Given the description of an element on the screen output the (x, y) to click on. 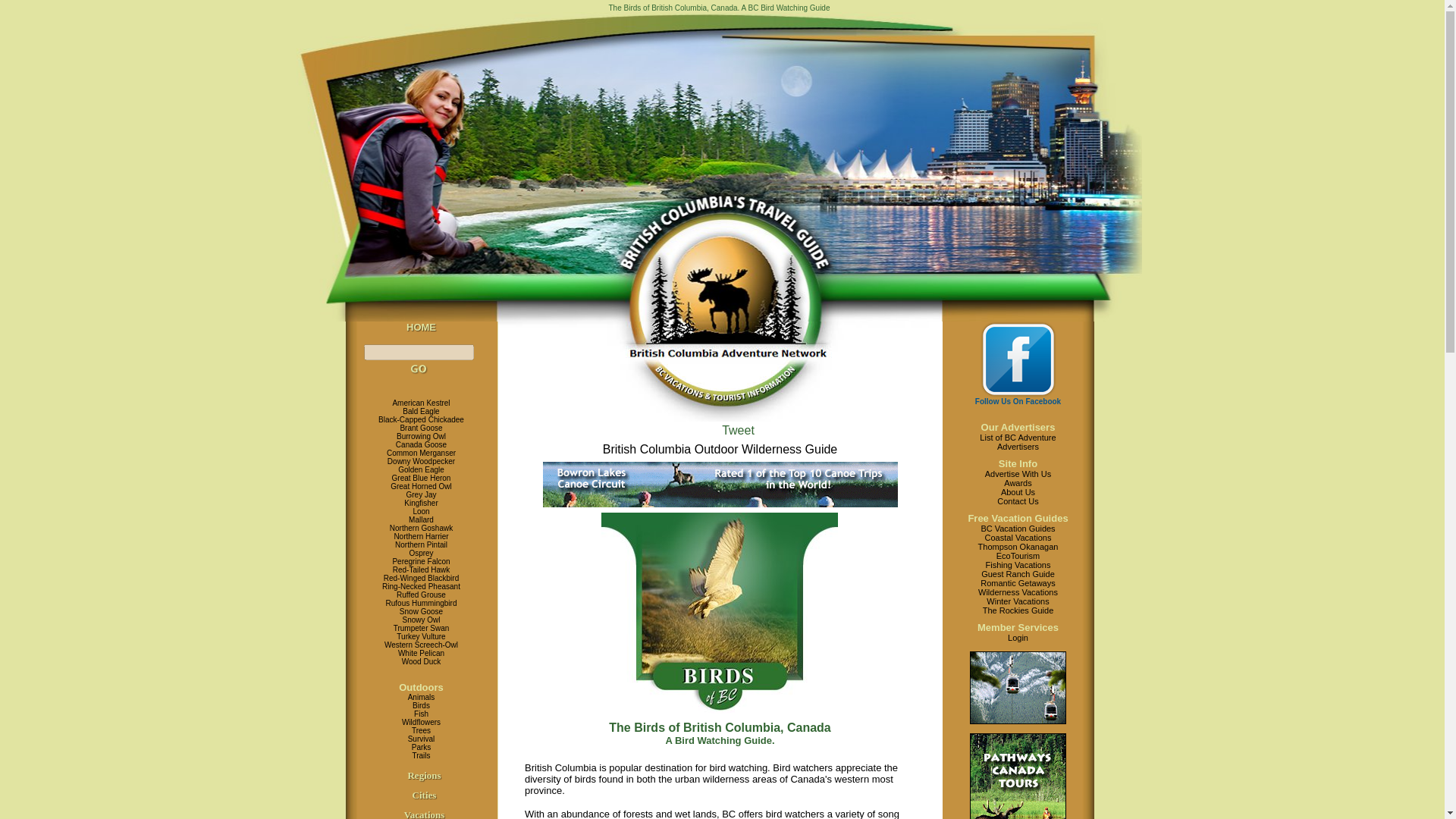
Brant Goose (420, 428)
Snowy Owl (420, 619)
Common Merganser (421, 452)
HOME (420, 326)
Search (418, 369)
Survival (421, 738)
Birds (420, 705)
Peregrine Falcon (420, 561)
Burrowing Owl (420, 436)
Mallard (421, 519)
